Given the description of an element on the screen output the (x, y) to click on. 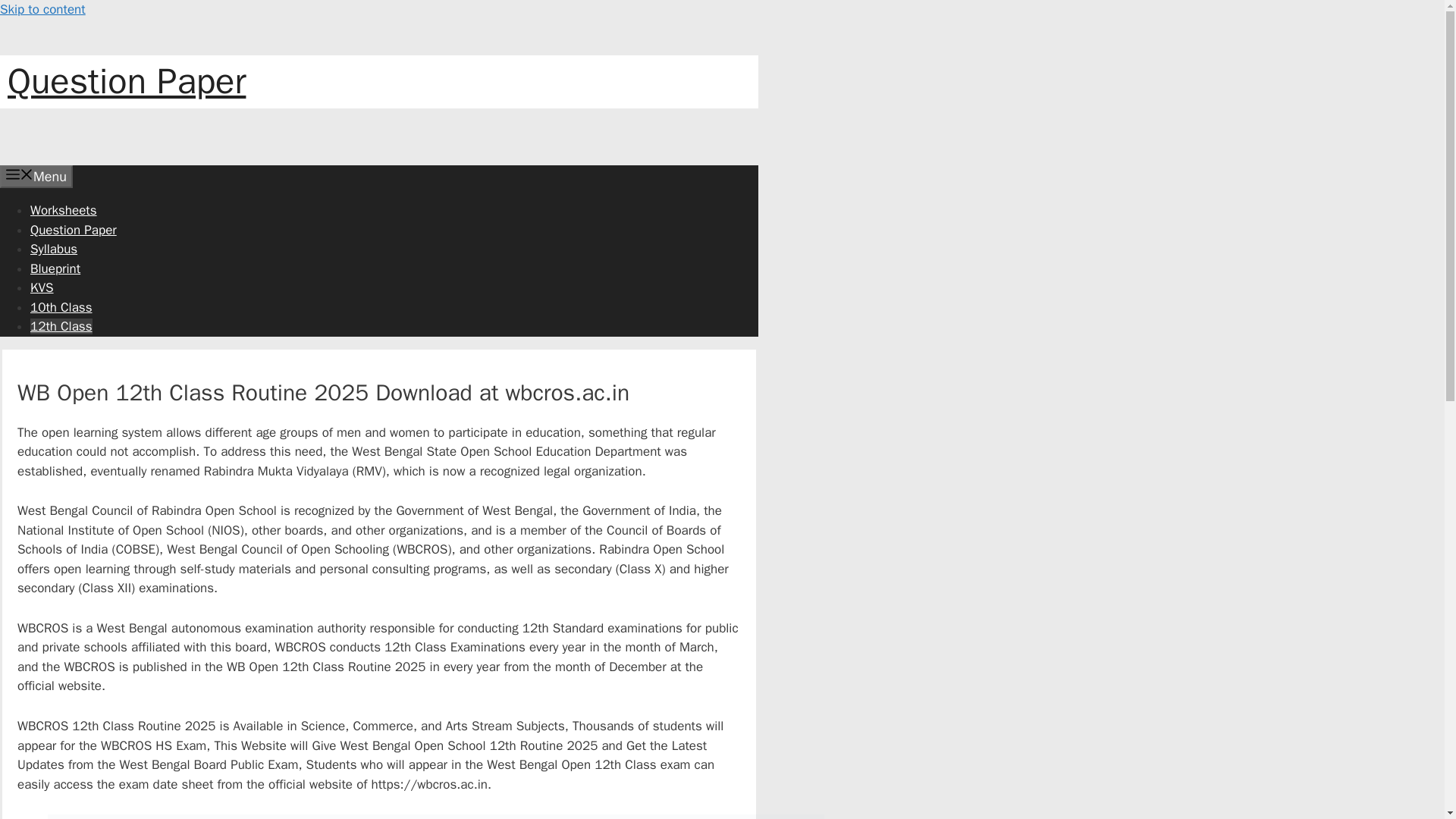
Blueprint (55, 268)
Skip to content (42, 9)
Menu (36, 176)
KVS (41, 287)
Question Paper (73, 229)
12th Class (61, 326)
Skip to content (42, 9)
10th Class (61, 307)
Syllabus (53, 248)
Worksheets (63, 210)
Question Paper (126, 81)
